Given the description of an element on the screen output the (x, y) to click on. 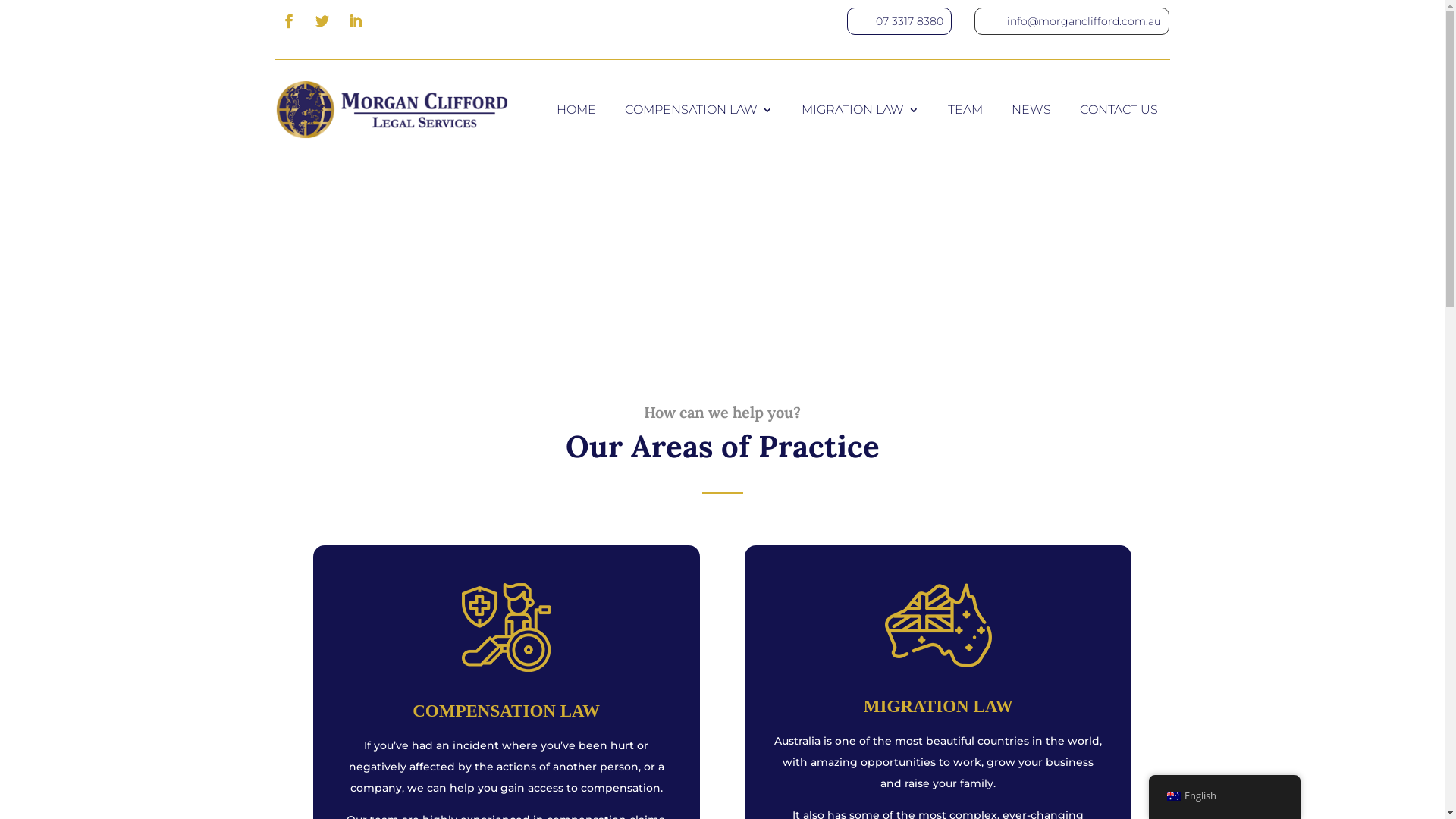
COMPENSATION LAW Element type: text (698, 109)
Follow on Twitter Element type: hover (321, 20)
Follow on LinkedIn Element type: hover (354, 20)
English Element type: hover (1172, 795)
Follow on Facebook Element type: hover (287, 20)
NEWS Element type: text (1031, 109)
injury Element type: hover (505, 627)
TEAM Element type: text (964, 109)
HOME Element type: text (576, 109)
English Element type: text (1223, 795)
CONTACT US Element type: text (1118, 109)
MIGRATION LAW Element type: text (859, 109)
2021-06-06 (1) Element type: hover (937, 625)
